Given the description of an element on the screen output the (x, y) to click on. 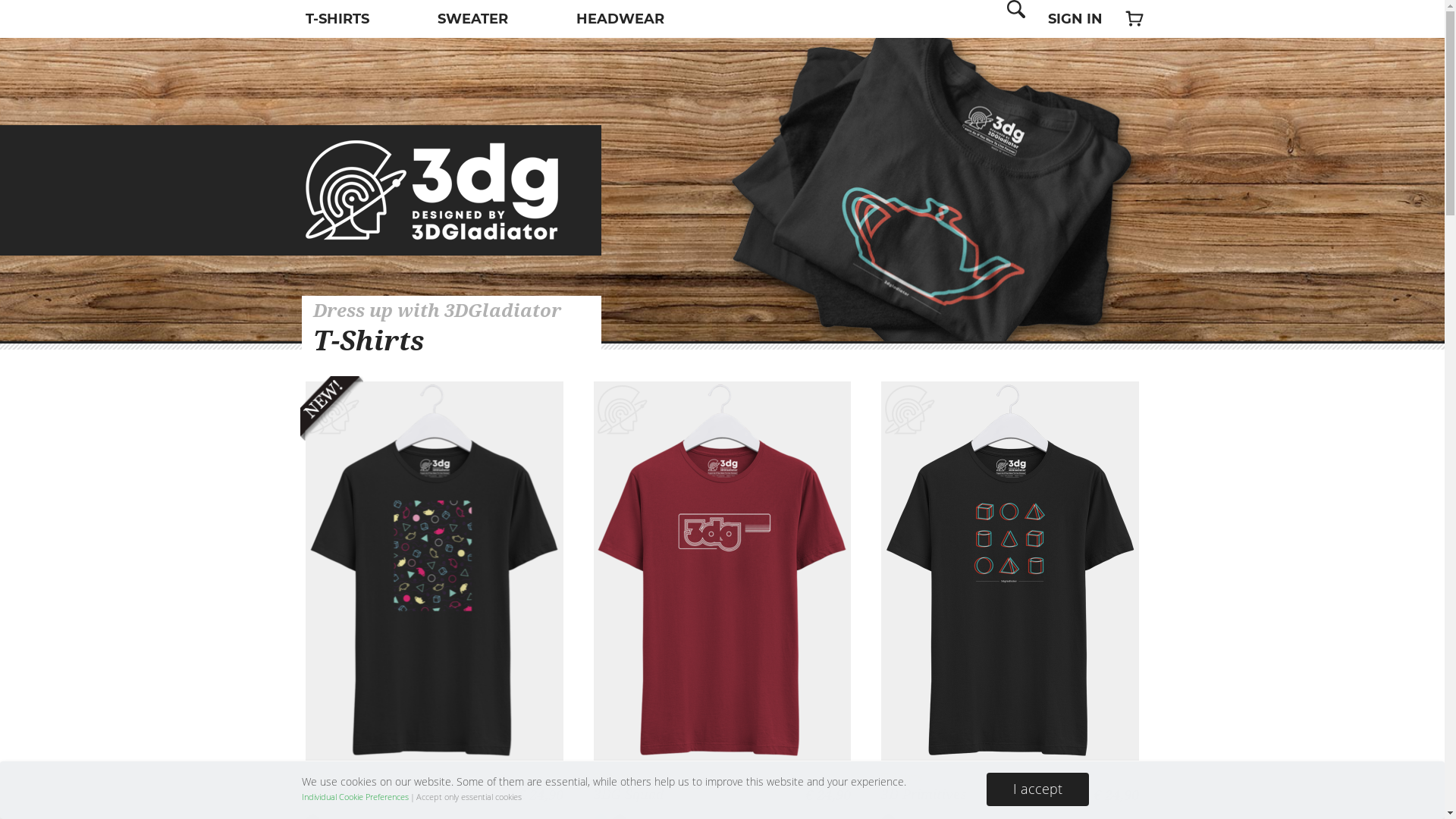
SIGN IN Element type: text (1075, 18)
Individual Cookie Preferences Element type: text (354, 796)
T-Shirts Element type: text (326, 776)
I accept Element type: text (1037, 789)
T-Shirts Element type: text (367, 339)
HEADWEAR Element type: text (619, 18)
3D Primitives Element type: text (923, 794)
Search Element type: text (24, 9)
3DG Squad Element type: text (628, 794)
Your cart is empty. Element type: hover (1134, 18)
Search Element type: hover (1016, 18)
T-Shirts Element type: text (613, 776)
3DG Retro Element type: text (338, 794)
T-SHIRTS Element type: text (337, 18)
T-Shirts Element type: text (901, 776)
SWEATER Element type: text (472, 18)
Accept only essential cookies Element type: text (467, 796)
